Given the description of an element on the screen output the (x, y) to click on. 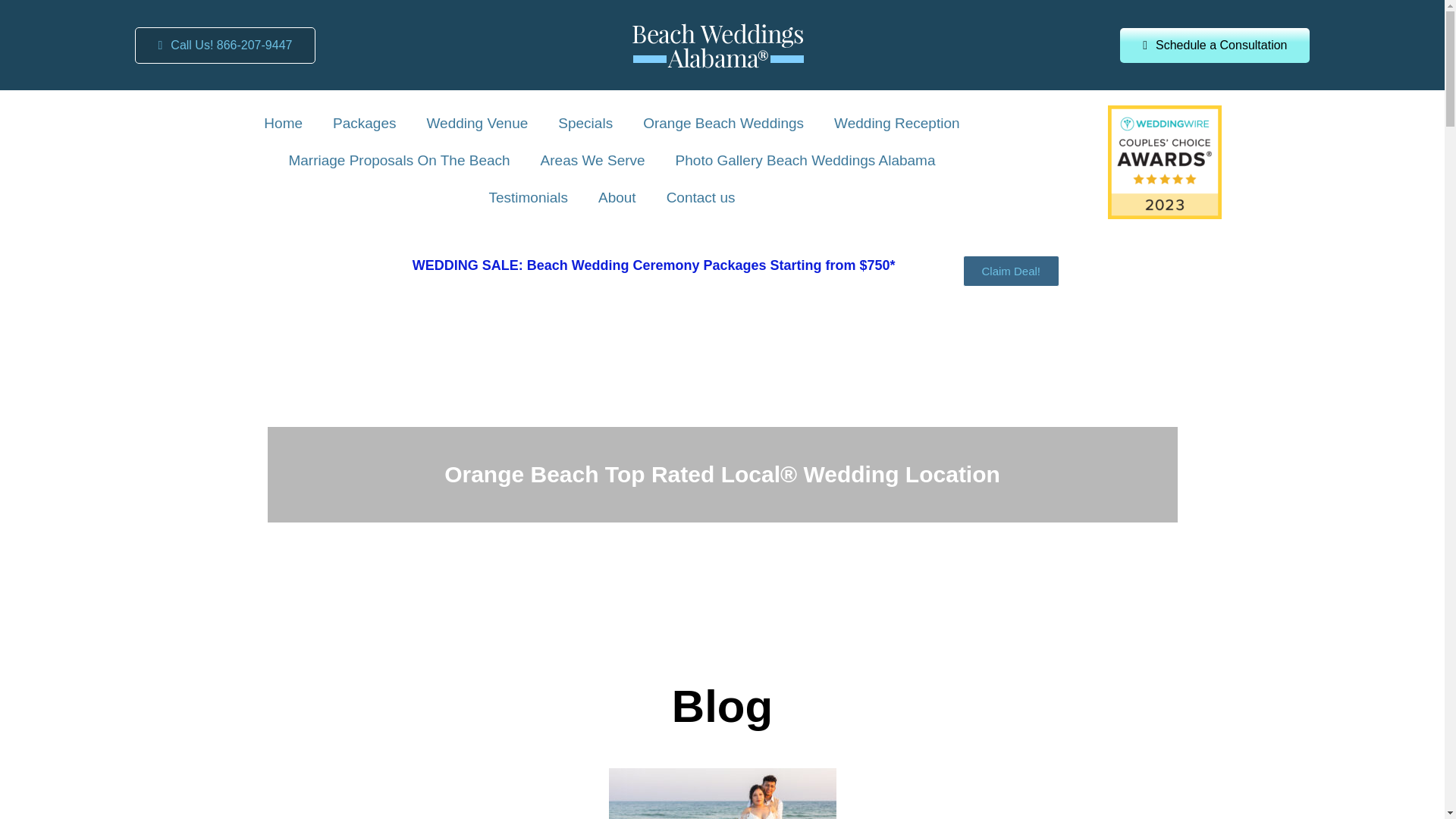
Specials (585, 123)
Areas We Serve (593, 160)
Photo Gallery Beach Weddings Alabama (805, 160)
Schedule a Consultation (1213, 44)
Wedding Reception (896, 123)
Packages (363, 123)
Orange Beach Weddings (722, 123)
Marriage Proposals On The Beach (398, 160)
Wedding Venue (476, 123)
About (616, 198)
